Given the description of an element on the screen output the (x, y) to click on. 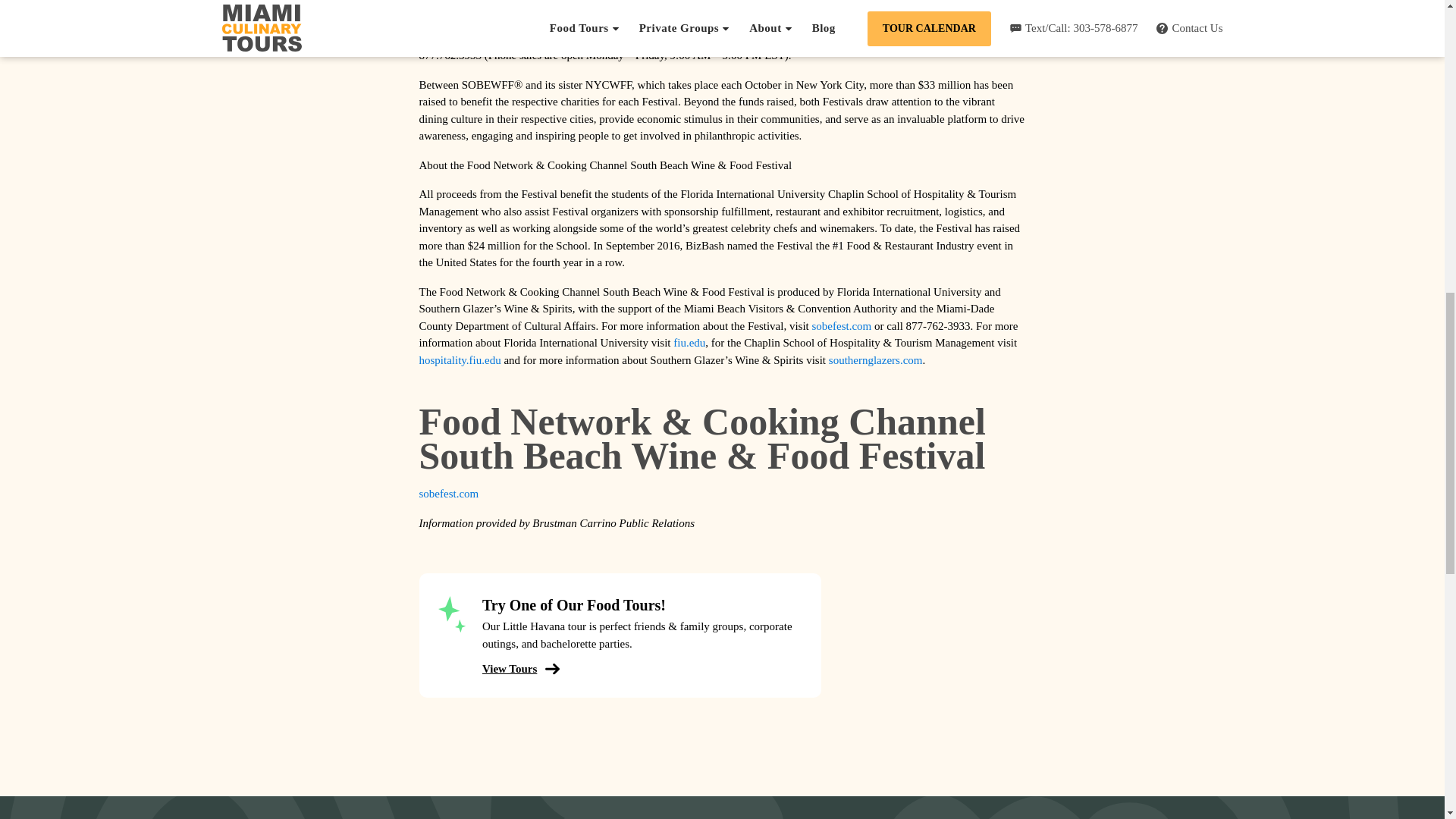
FareHarbor (1342, 64)
hospitality.fiu.edu (459, 358)
fiu.edu (688, 342)
sobefest.com (449, 493)
sobefest.com (840, 326)
southernglazers.com (875, 358)
View Tours (516, 668)
